Given the description of an element on the screen output the (x, y) to click on. 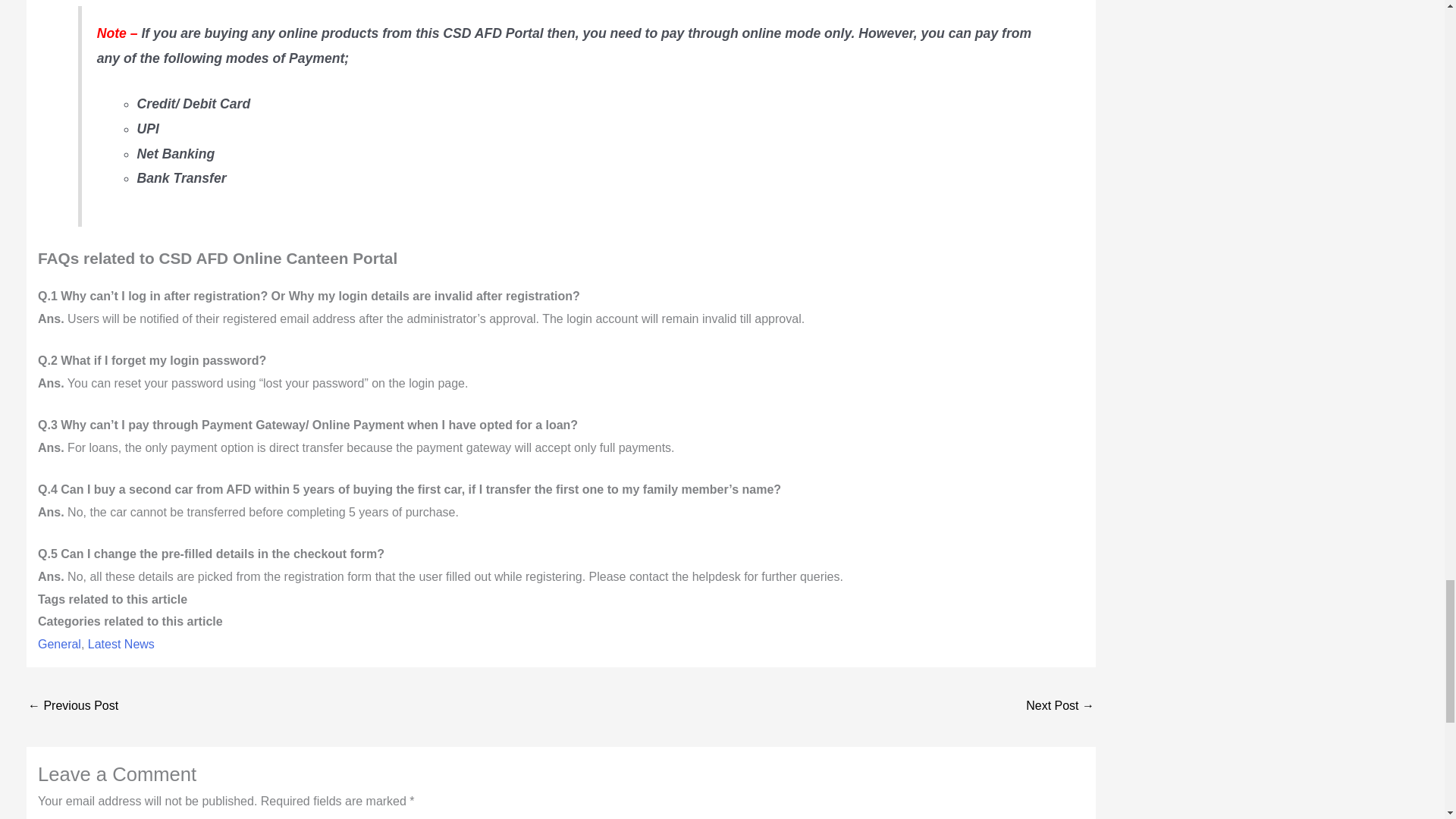
General (59, 644)
Latest News (120, 644)
